Given the description of an element on the screen output the (x, y) to click on. 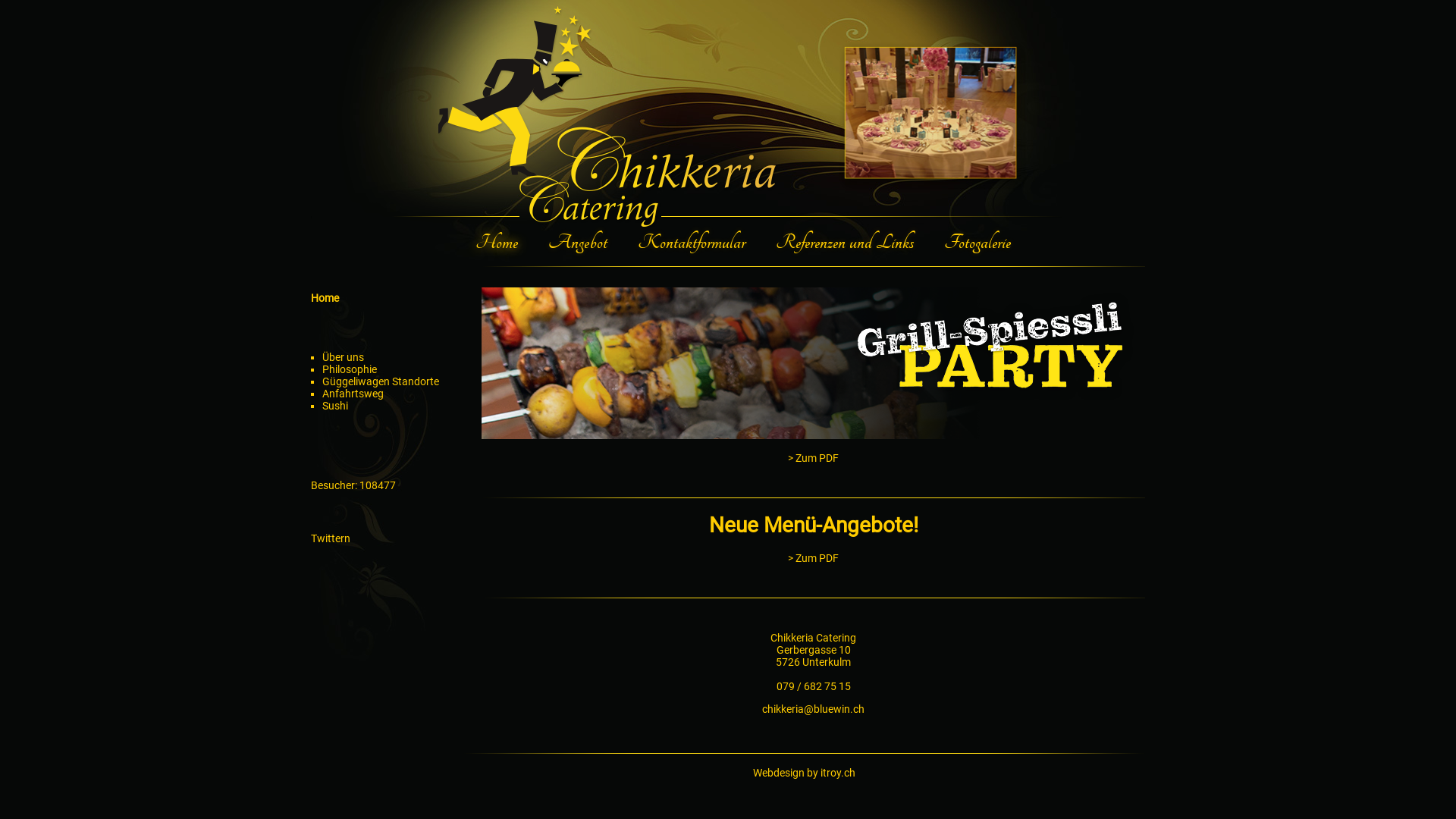
> Zum PDF Element type: text (812, 457)
Fotogalerie Element type: text (977, 241)
Home Element type: text (496, 241)
Anfahrtsweg Element type: text (352, 393)
> Zum PDF Element type: text (812, 558)
chikkeria@bluewin.ch Element type: text (813, 708)
Referenzen und Links Element type: text (844, 241)
Twittern Element type: text (330, 538)
Sushi Element type: text (335, 405)
Angebot Element type: text (577, 241)
Philosophie Element type: text (349, 369)
Kontaktformular Element type: text (691, 241)
Webdesign by itroy.ch Element type: text (803, 771)
